Given the description of an element on the screen output the (x, y) to click on. 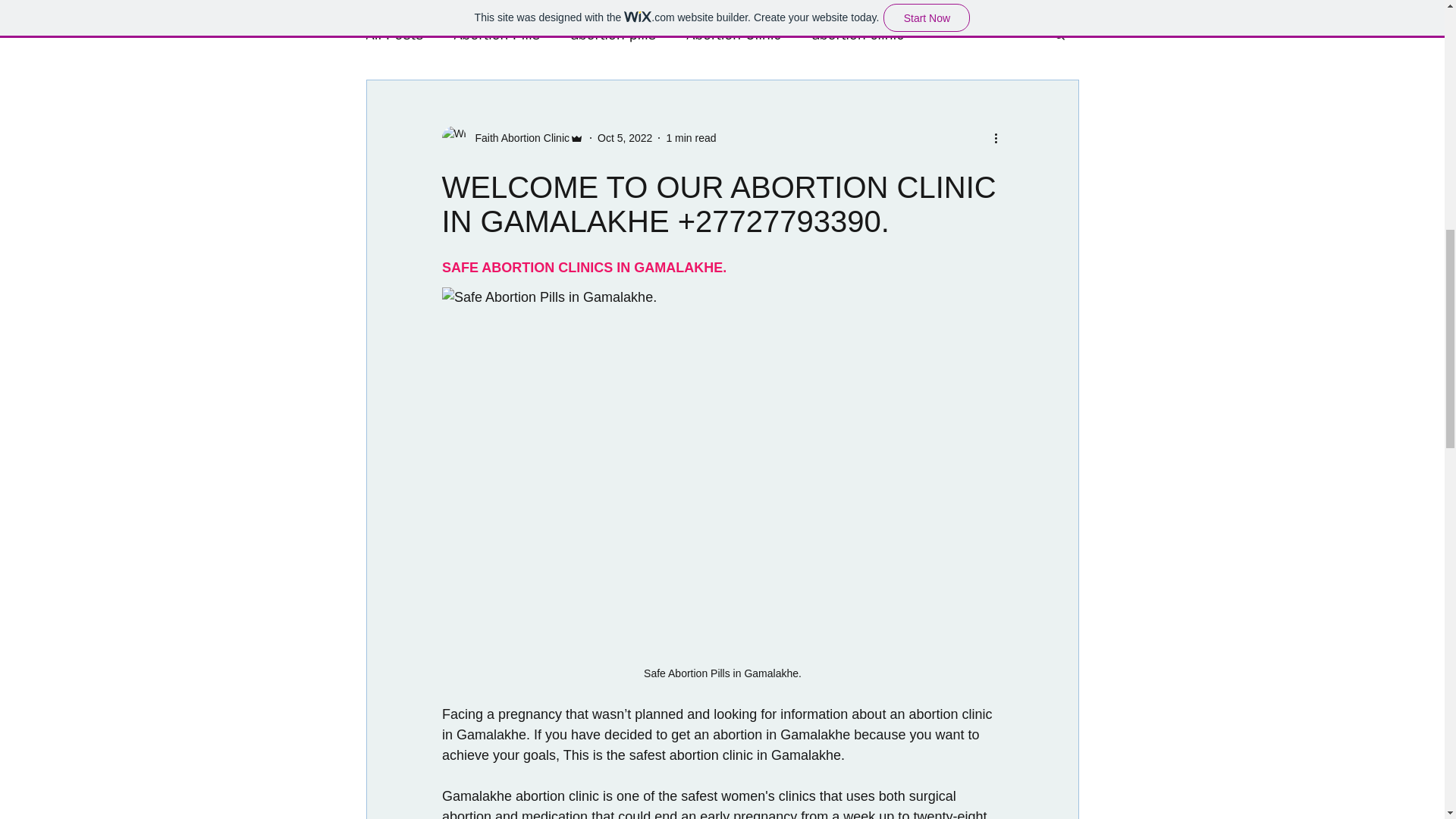
Oct 5, 2022 (624, 137)
1 min read (690, 137)
Faith Abortion Clinic (517, 138)
